Given the description of an element on the screen output the (x, y) to click on. 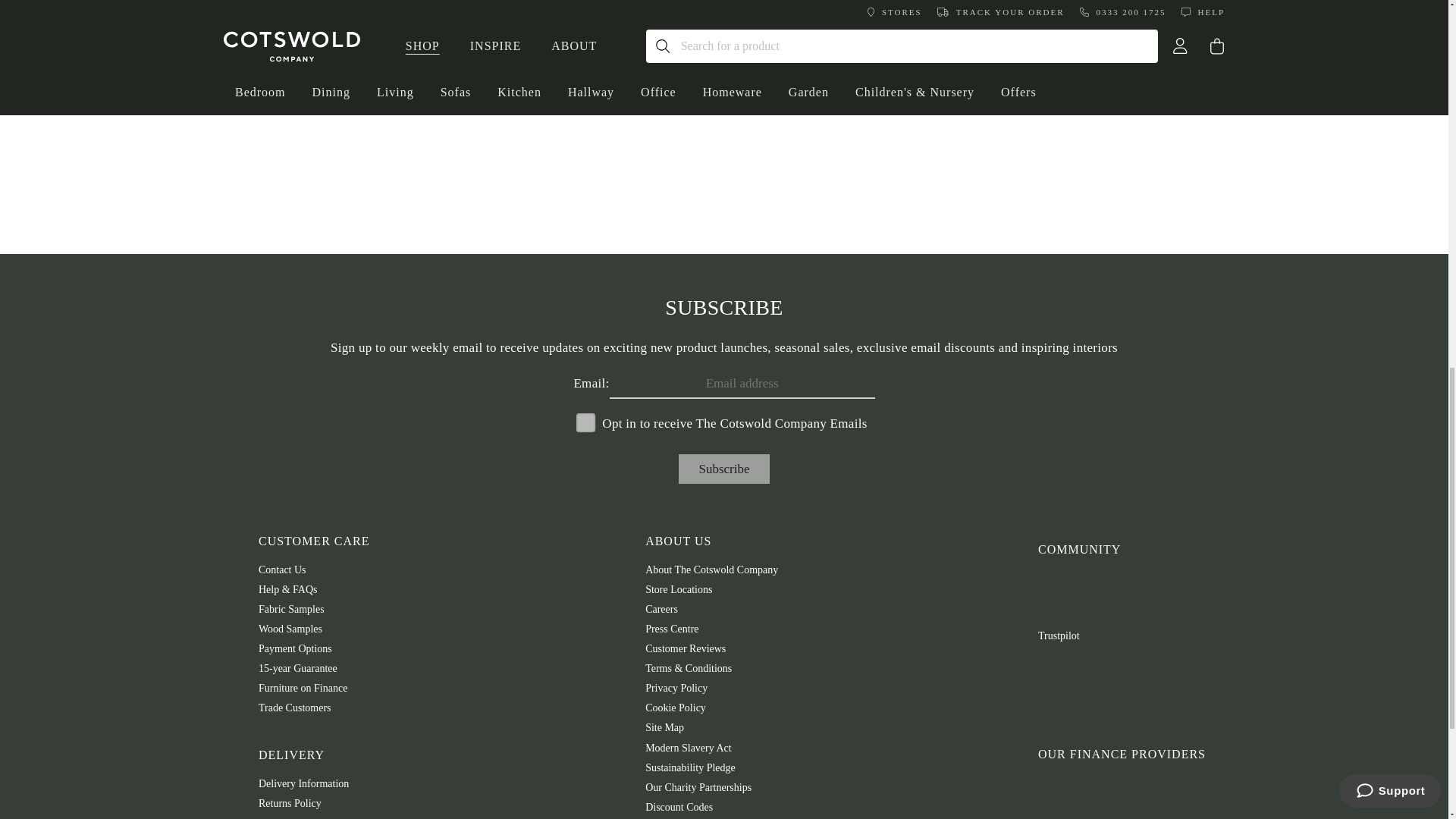
on (581, 417)
